Given the description of an element on the screen output the (x, y) to click on. 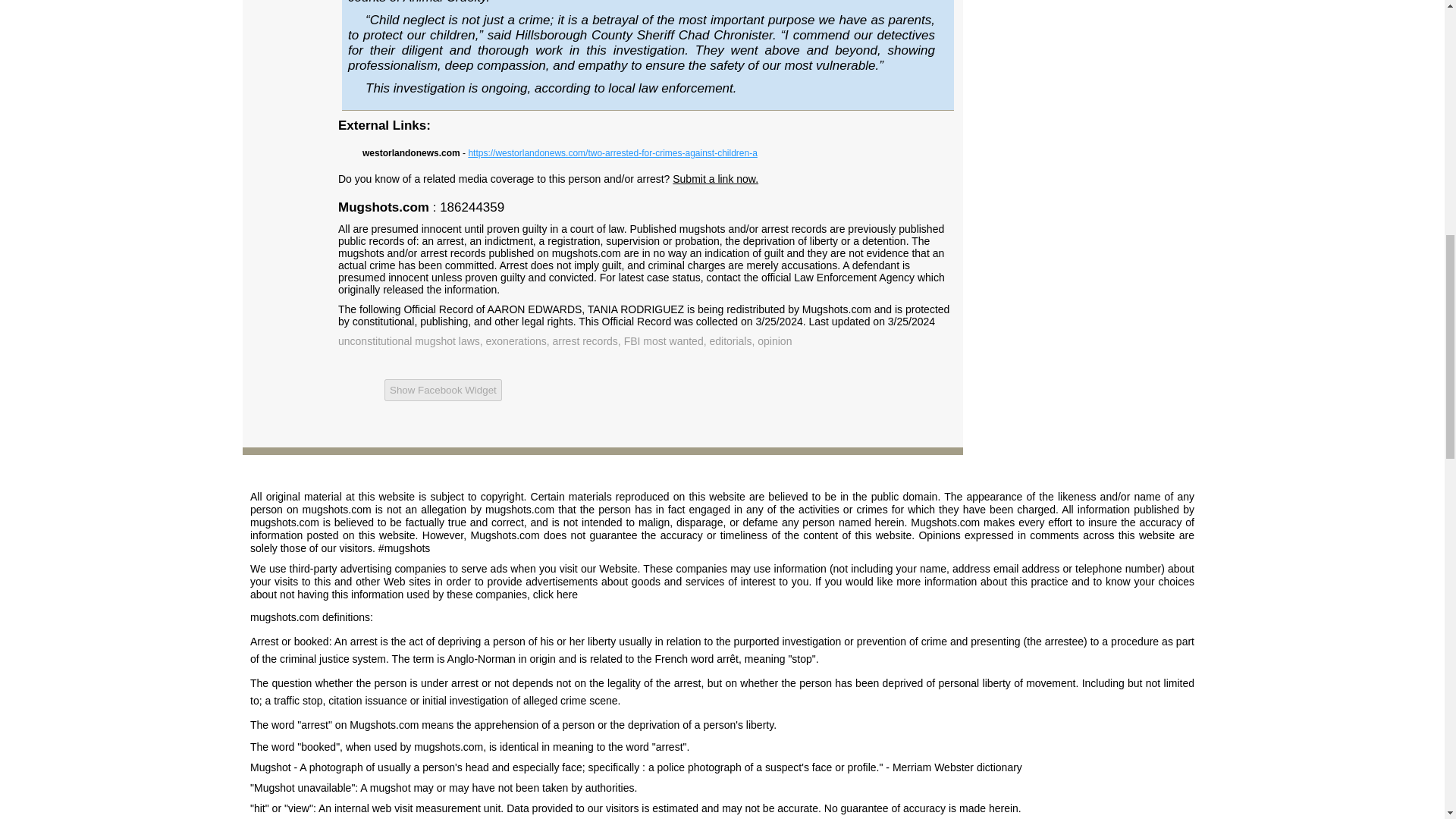
Add external link for AARON EDWARDS, TANIA RODRIGUEZ (715, 178)
Show Facebook Widget (443, 390)
click here (555, 594)
Submit a link now. (715, 178)
